Given the description of an element on the screen output the (x, y) to click on. 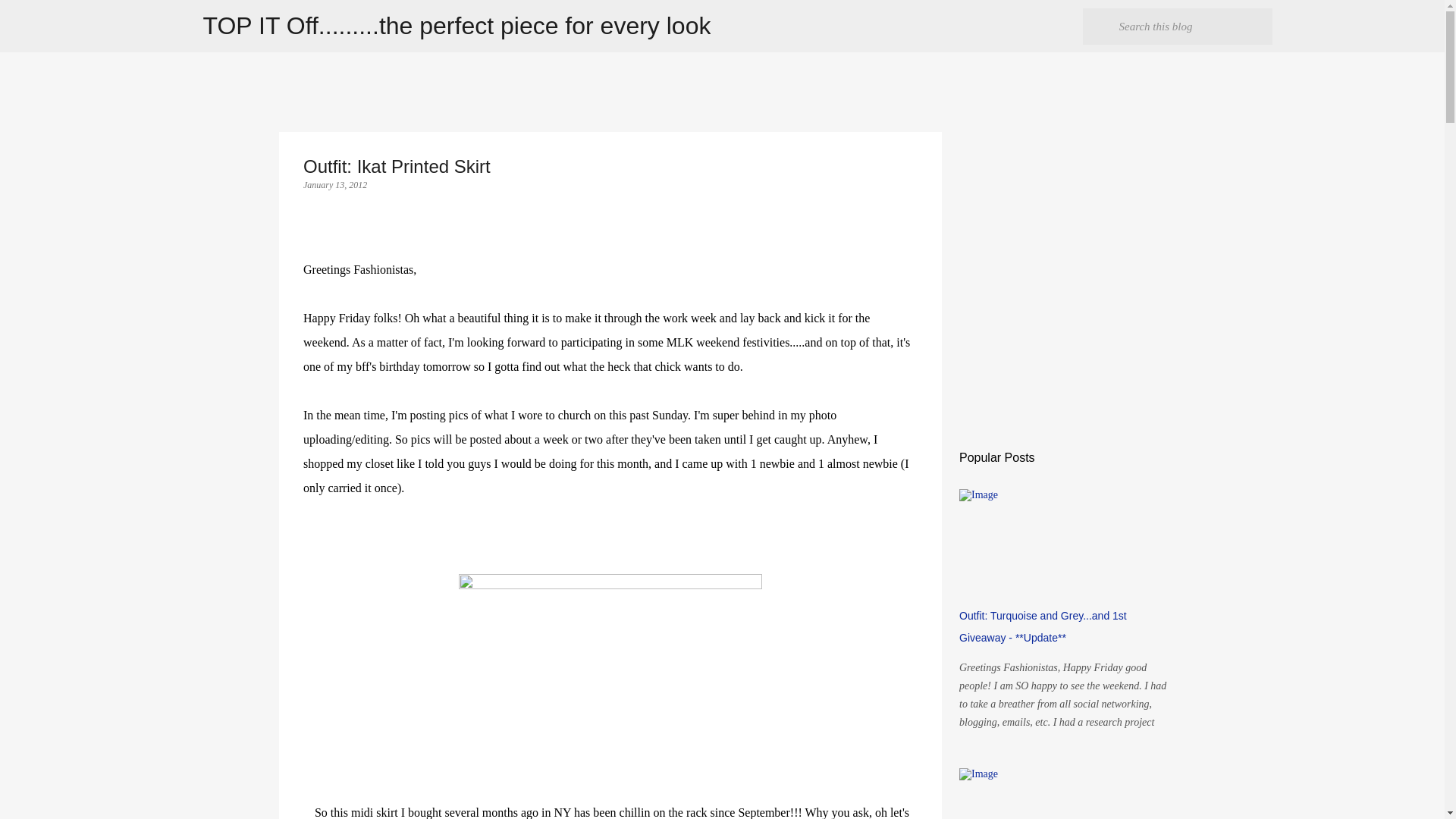
January 13, 2012 (334, 184)
TOP IT Off.........the perfect piece for every look (457, 25)
permanent link (334, 184)
